Given the description of an element on the screen output the (x, y) to click on. 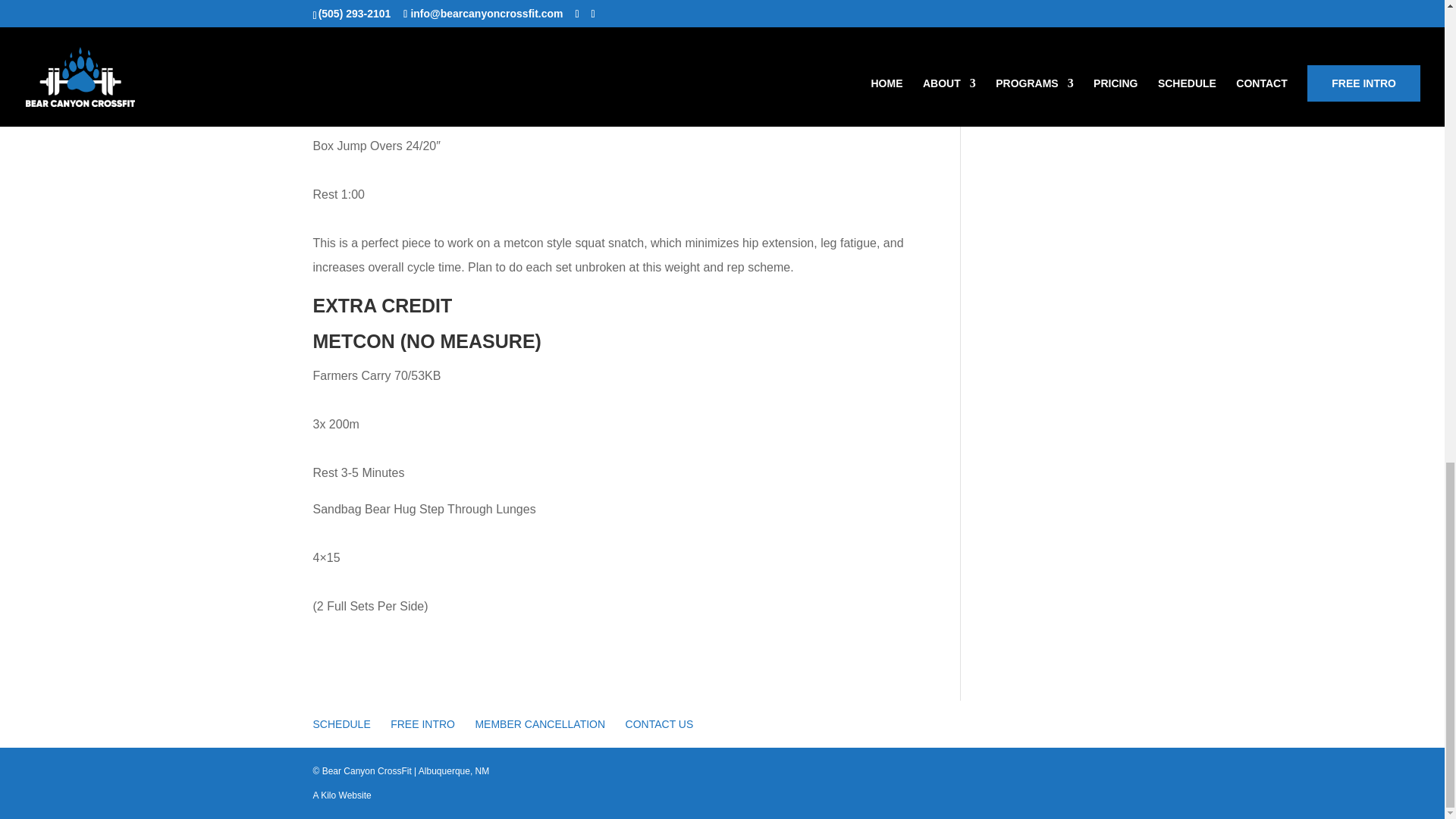
FREE INTRO (422, 724)
CONTACT US (660, 724)
SCHEDULE (341, 724)
MEMBER CANCELLATION (539, 724)
